Given the description of an element on the screen output the (x, y) to click on. 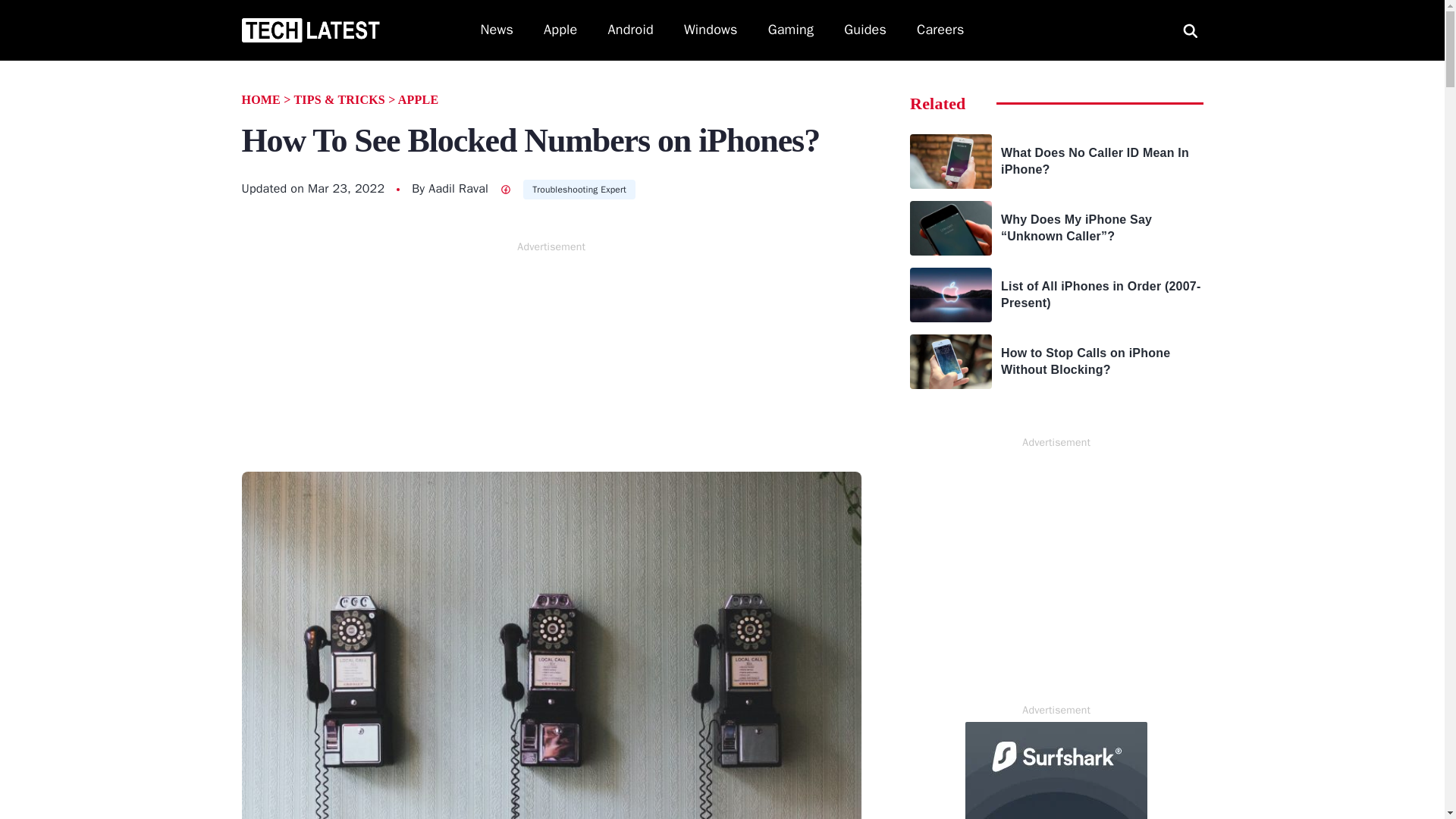
Careers (940, 30)
HOME (260, 99)
News (496, 30)
APPLE (417, 99)
Android (630, 30)
Guides (865, 30)
Search for: (1189, 29)
Gaming (790, 30)
Search (29, 11)
Windows (711, 30)
Aadil Raval (457, 188)
Apple (560, 30)
